Given the description of an element on the screen output the (x, y) to click on. 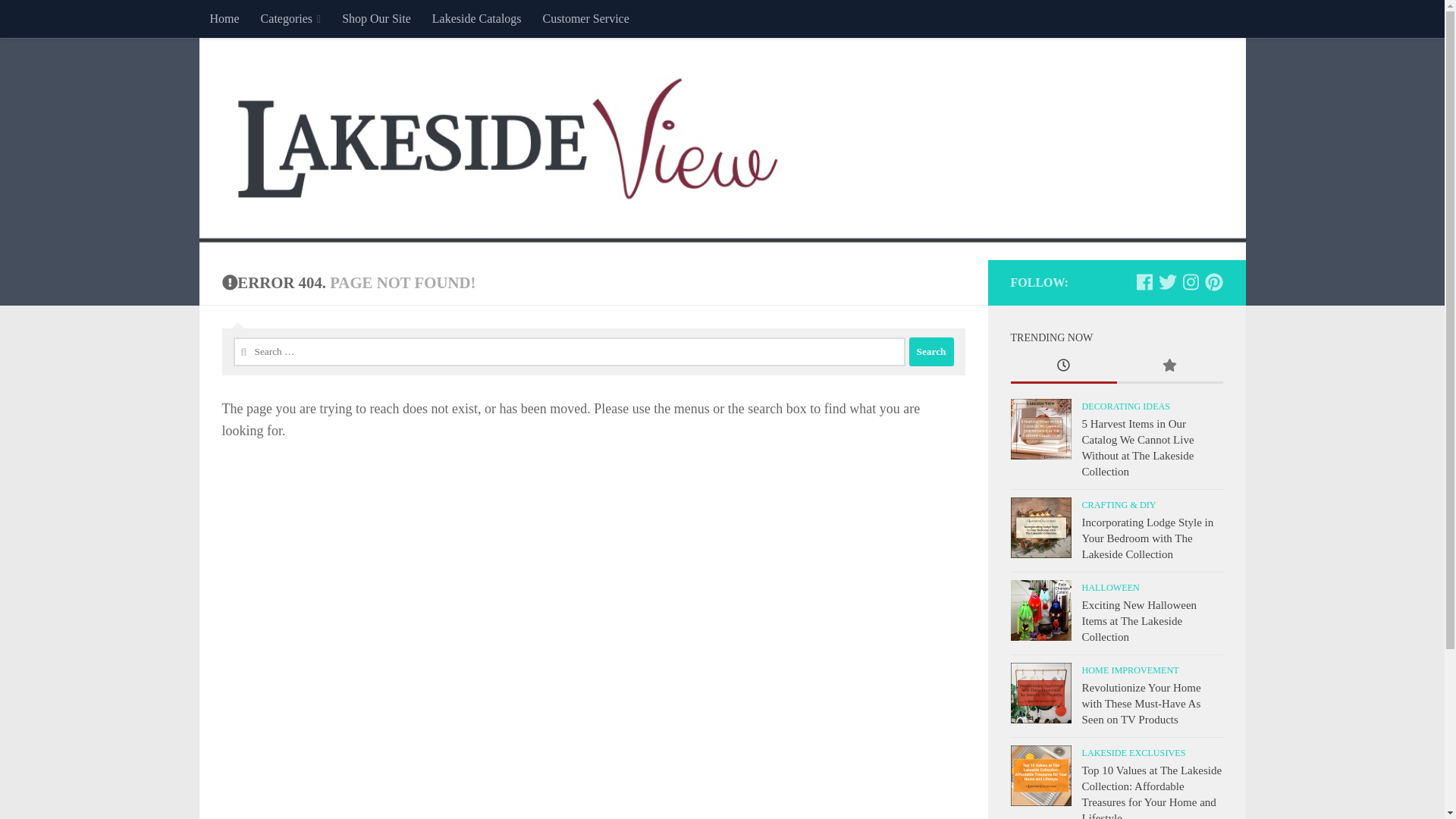
Customer Service (586, 18)
Lakeside Catalogs (477, 18)
Search (930, 351)
Popular Posts (1169, 367)
Search (930, 351)
Categories (290, 18)
Follow Us On Pinterest (1213, 281)
Home (223, 18)
Shop Our Site (376, 18)
Search (930, 351)
